Given the description of an element on the screen output the (x, y) to click on. 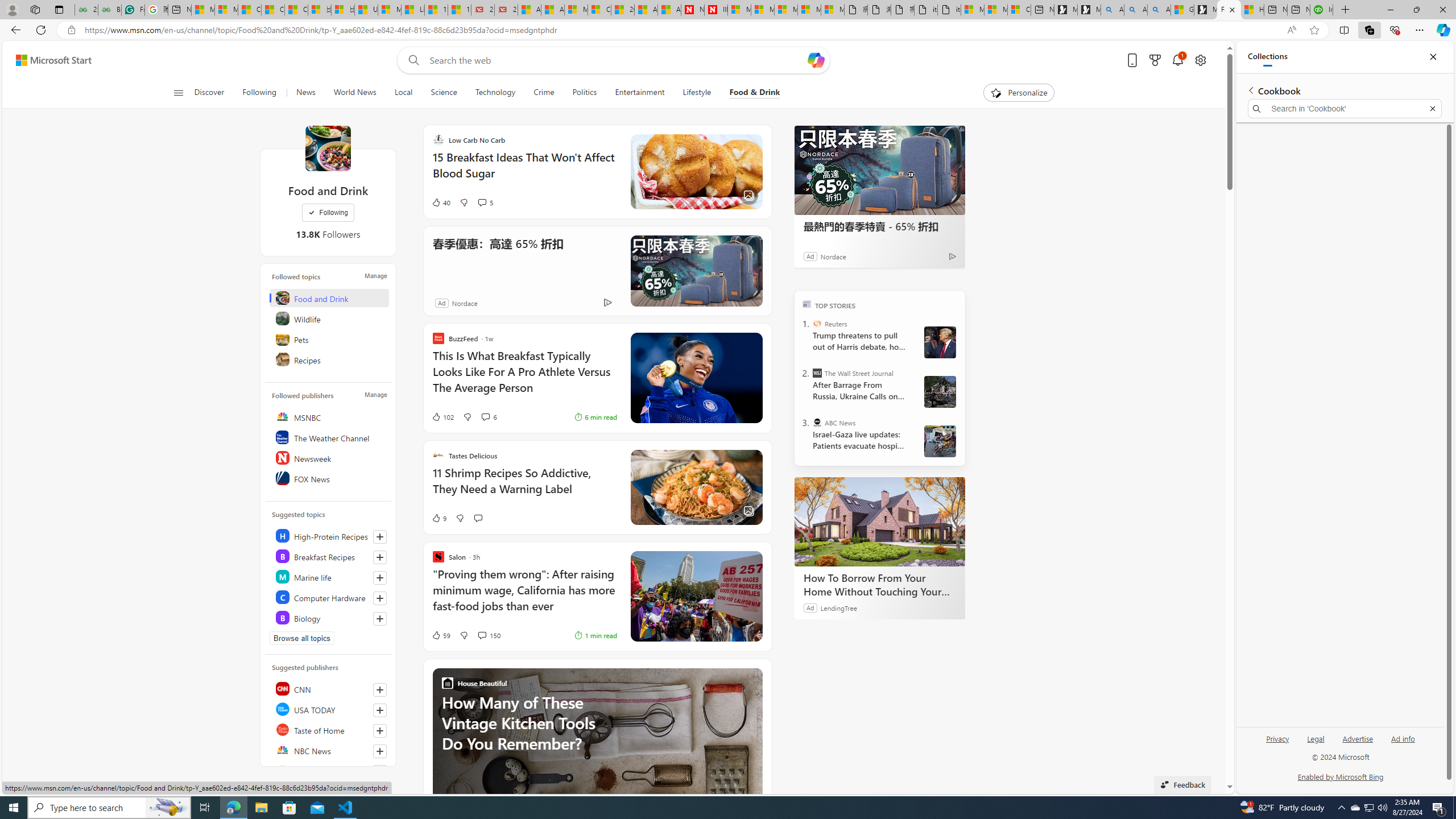
102 Like (442, 416)
itconcepthk.com/projector_solutions.mp4 (949, 9)
